Given the description of an element on the screen output the (x, y) to click on. 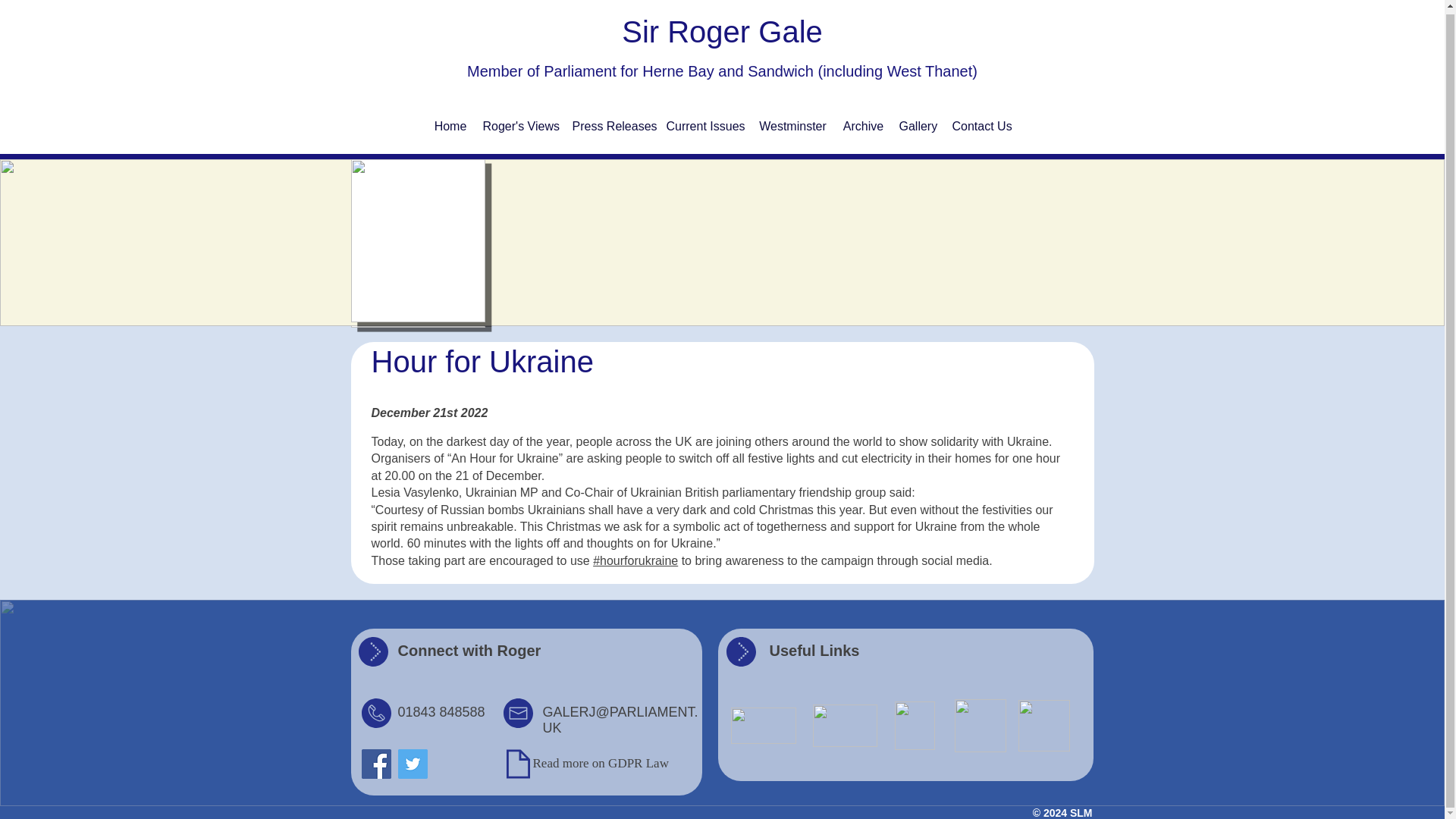
Gallery (917, 123)
Roger's Views (519, 123)
Westminster (793, 123)
Current Issues (703, 123)
Contact Us (981, 123)
Read more on GDPR Law (600, 762)
Press Releases (611, 123)
Home (451, 123)
Archive (863, 123)
